Given the description of an element on the screen output the (x, y) to click on. 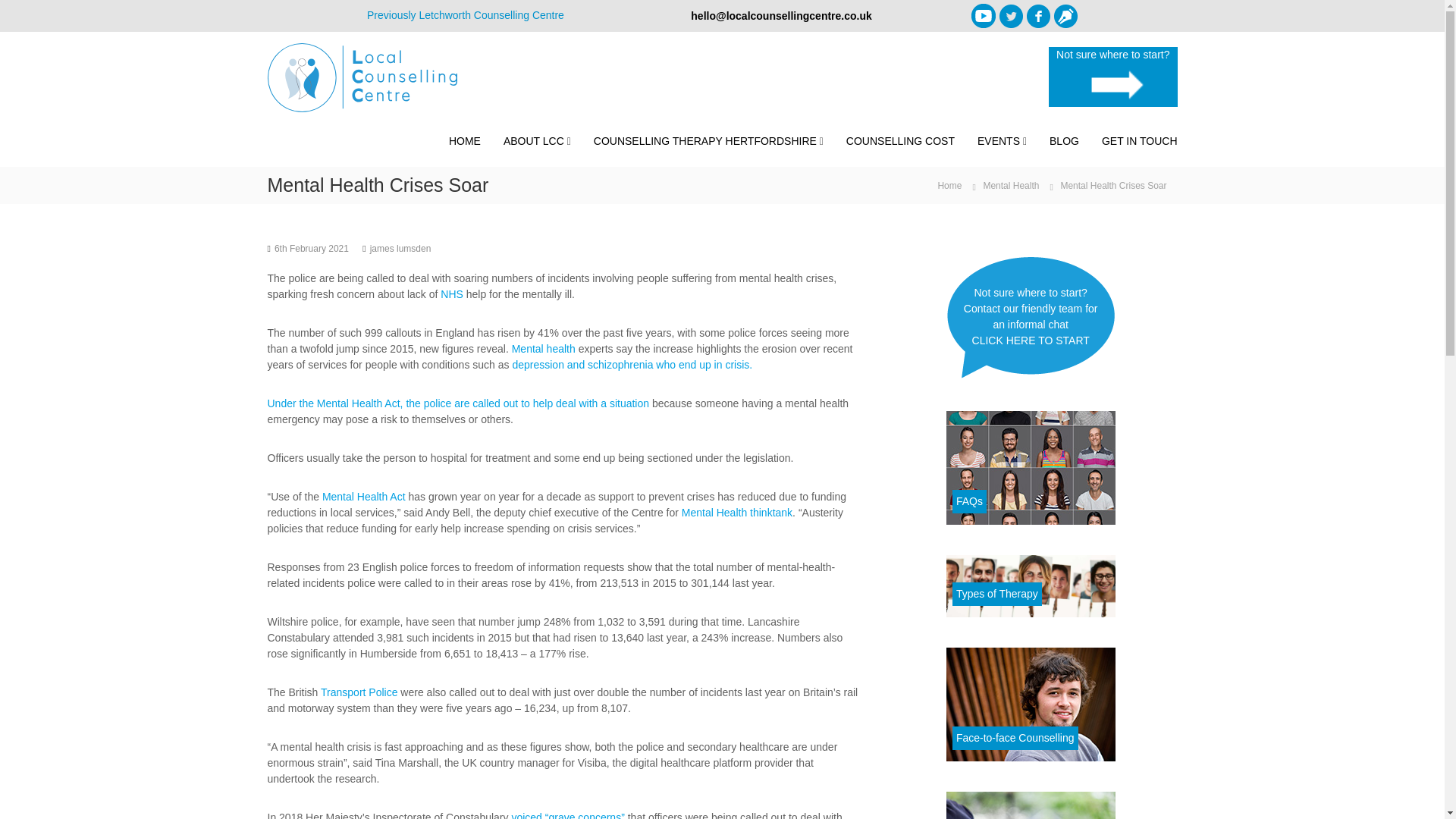
BLOG (1063, 141)
ABOUT LCC (533, 141)
HOME (464, 141)
Home (949, 184)
GET IN TOUCH (1139, 141)
Mental Health (1010, 185)
COUNSELLING THERAPY HERTFORDSHIRE (705, 141)
EVENTS (998, 141)
COUNSELLING COST (900, 141)
Home (949, 184)
